Given the description of an element on the screen output the (x, y) to click on. 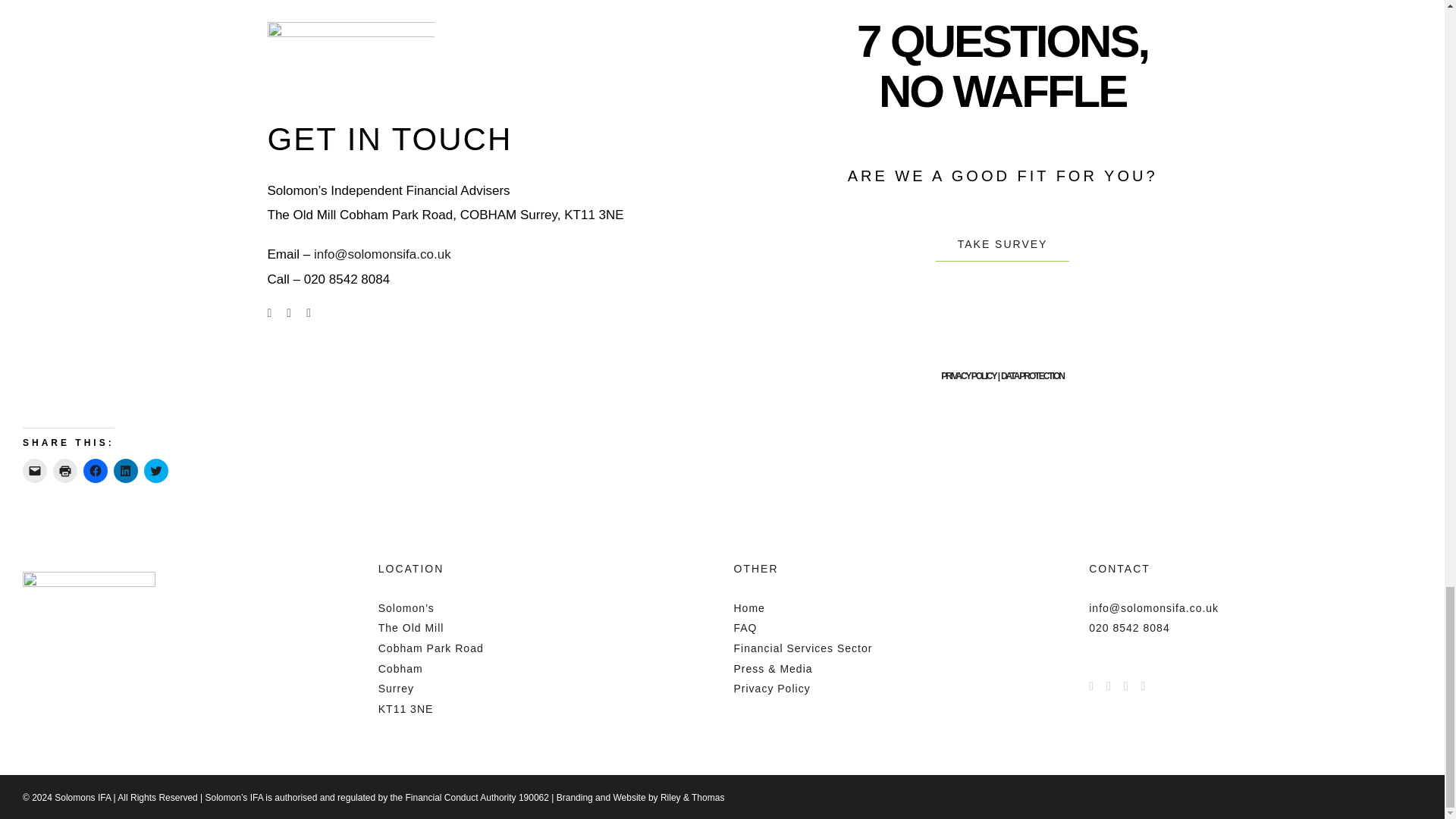
Home (749, 607)
Financial Services Sector (802, 648)
Click to email a link to a friend (34, 470)
TAKE SURVEY (1003, 244)
Privacy Policy (771, 688)
FAQ (745, 627)
